Given the description of an element on the screen output the (x, y) to click on. 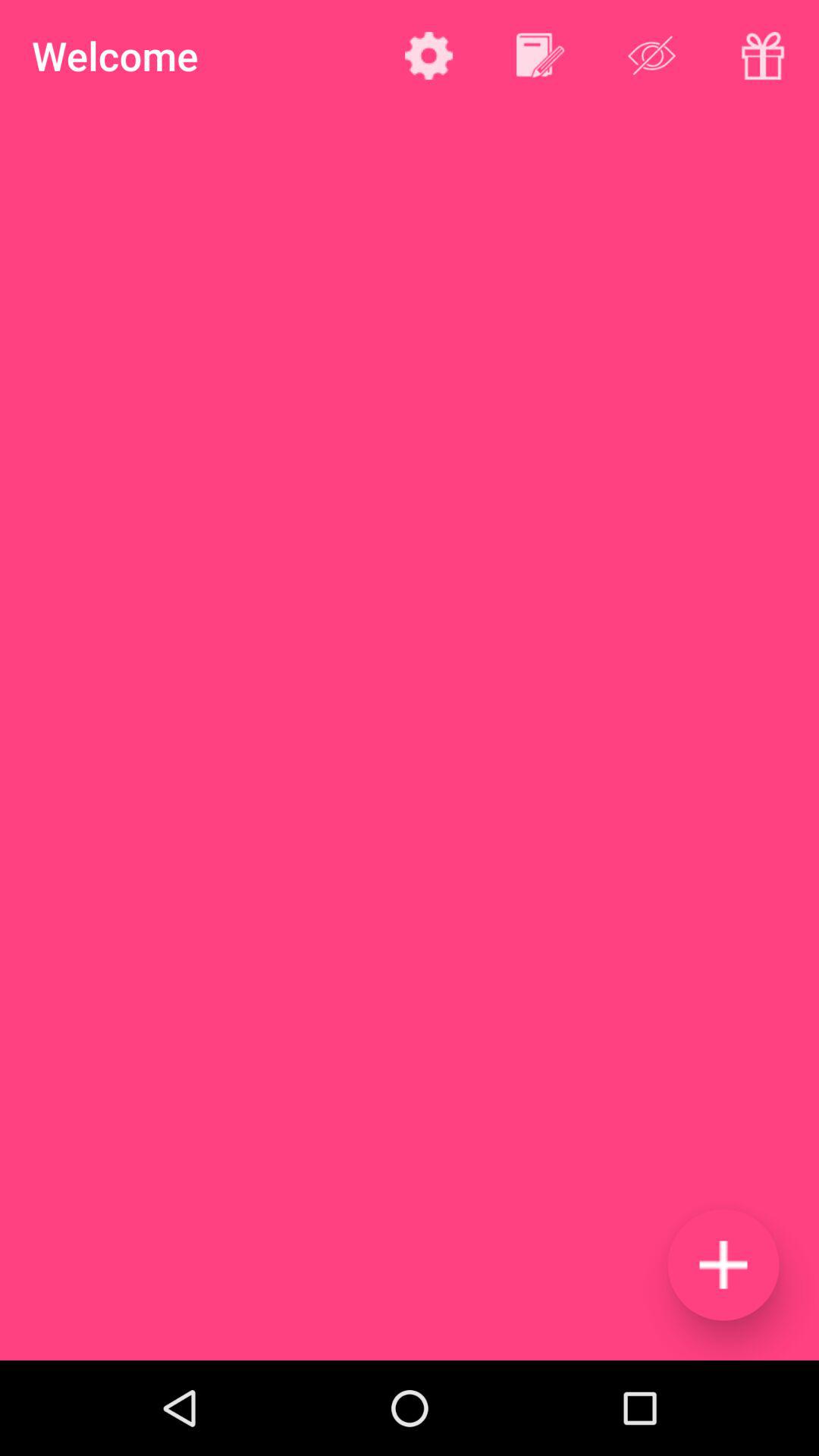
show or hide icon (651, 55)
